Given the description of an element on the screen output the (x, y) to click on. 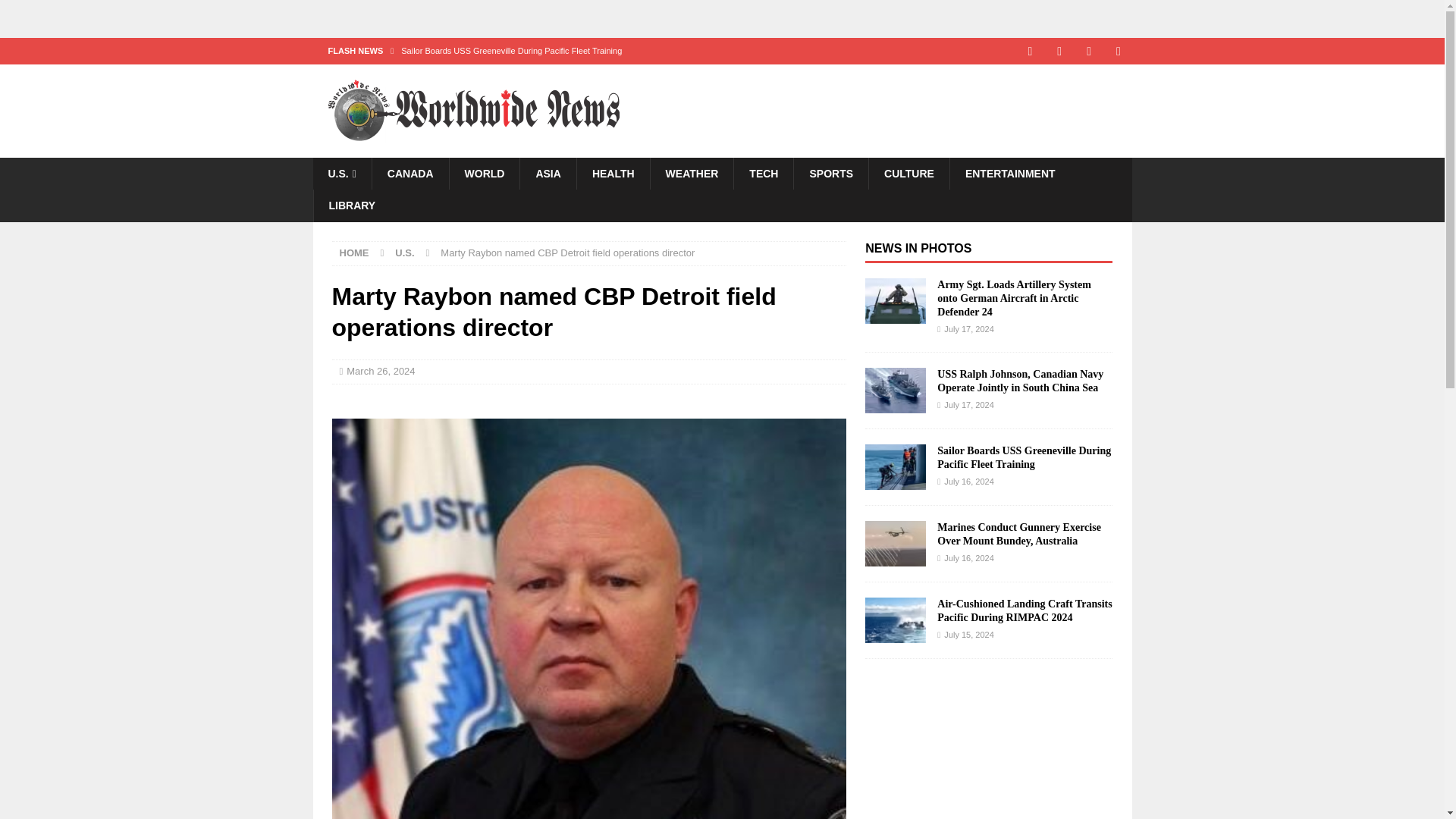
CULTURE (908, 173)
Sailor Boards USS Greeneville During Pacific Fleet Training (618, 50)
ENTERTAINMENT (1009, 173)
TECH (763, 173)
Sailor Boards USS Greeneville During Pacific Fleet Training (618, 50)
HEALTH (612, 173)
CANADA (409, 173)
WEATHER (691, 173)
ASIA (547, 173)
U.S. (342, 173)
WORLD (483, 173)
SPORTS (830, 173)
